Given the description of an element on the screen output the (x, y) to click on. 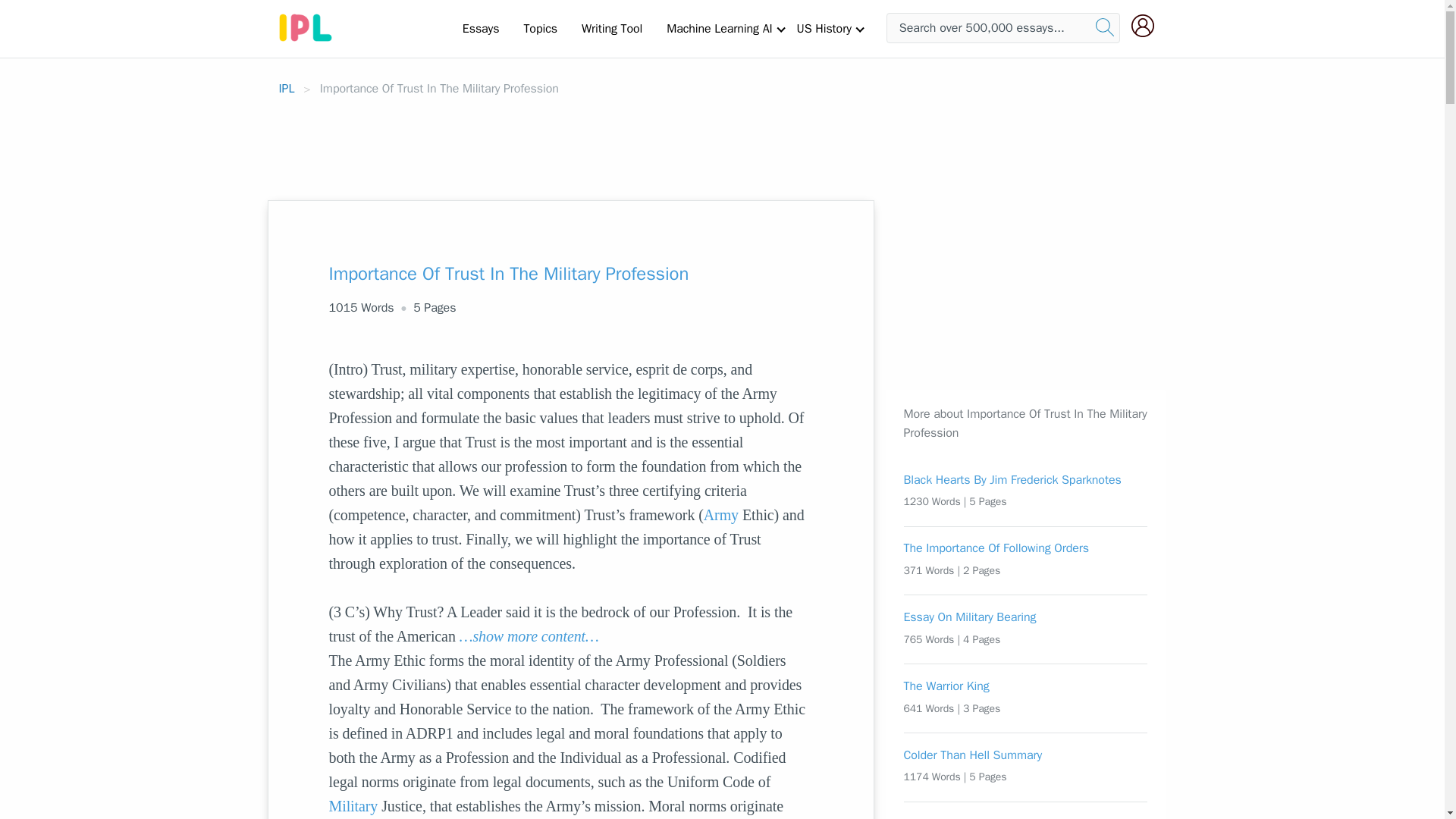
Essays (480, 28)
US History (823, 28)
Writing Tool (611, 28)
IPL (287, 88)
Machine Learning AI (718, 28)
Topics (540, 28)
Military (353, 805)
Army (720, 514)
